Given the description of an element on the screen output the (x, y) to click on. 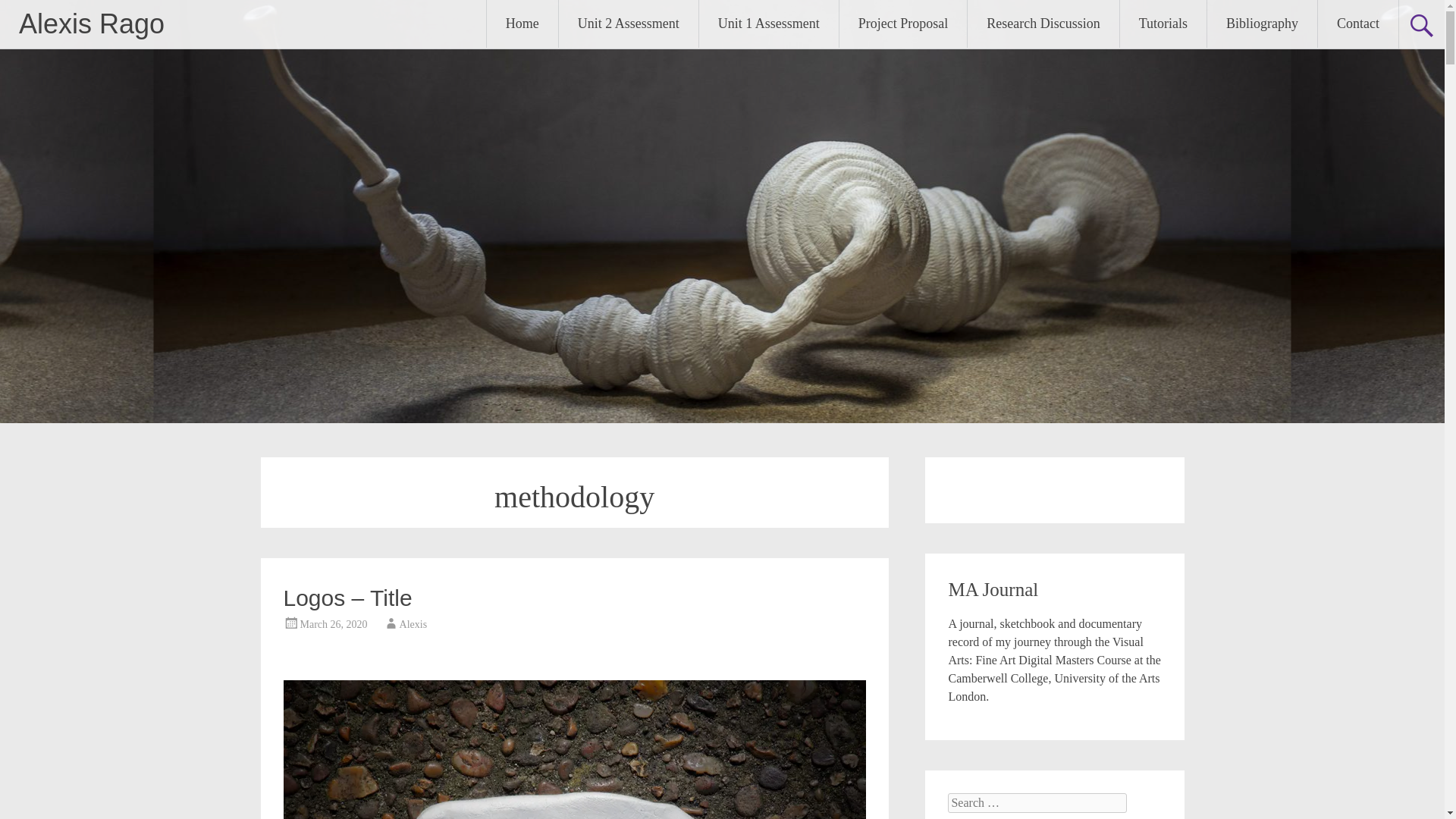
March 26, 2020 (333, 624)
Alexis Rago (91, 23)
Project Proposal (904, 23)
Alexis (413, 624)
Follow Button (1053, 487)
Contact (1357, 23)
Bibliography (1262, 23)
Unit 2 Assessment (628, 23)
Tutorials (1163, 23)
Alexis Rago (91, 23)
Unit 1 Assessment (768, 23)
Home (521, 23)
Research Discussion (1043, 23)
